Given the description of an element on the screen output the (x, y) to click on. 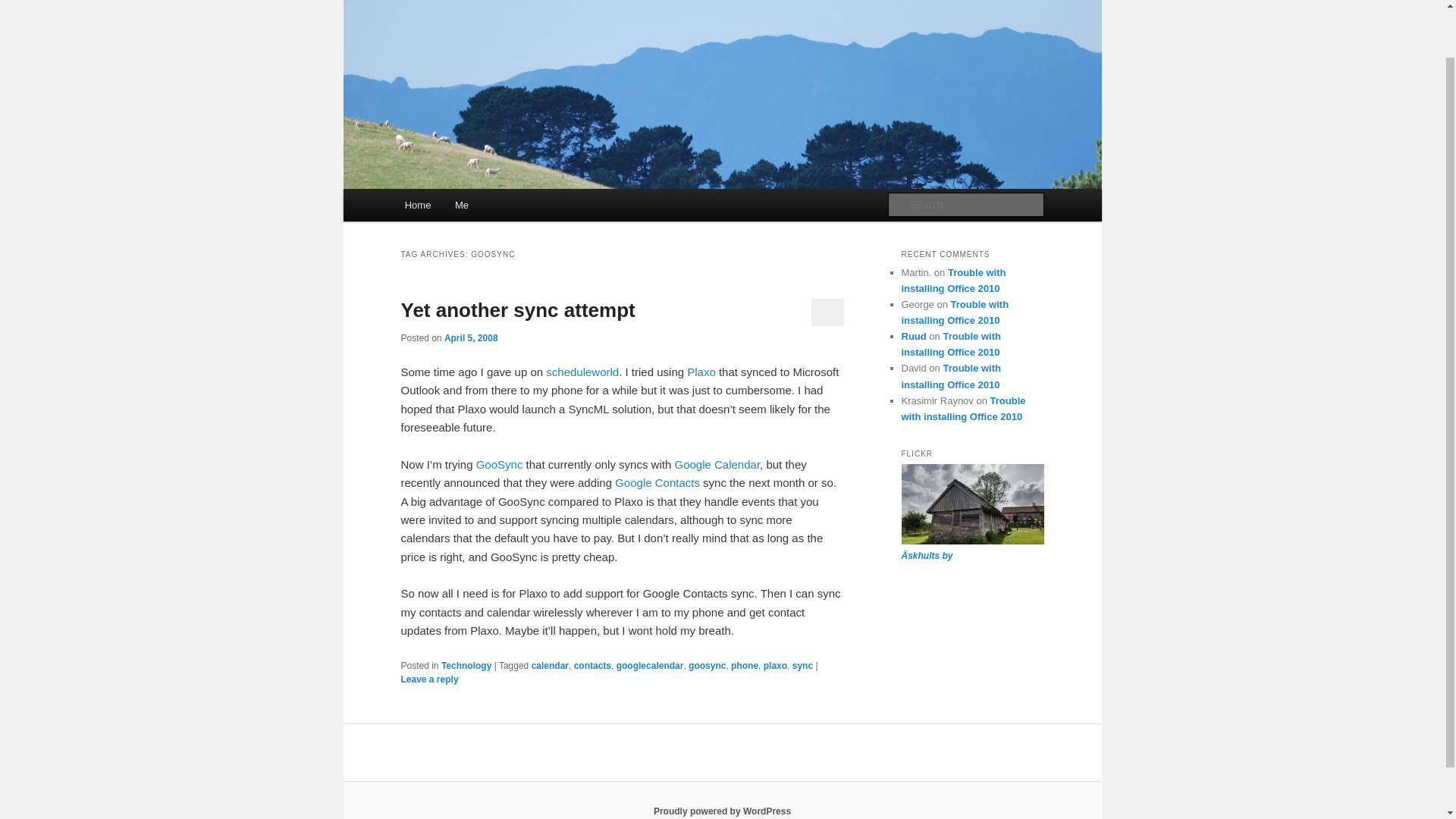
plaxo (774, 665)
April 5, 2008 (470, 337)
GooSync (499, 463)
Leave a reply (429, 679)
Google Calendar (717, 463)
Ruud (913, 336)
Click to see the photo on Flickr (926, 555)
sync (802, 665)
Plaxo (701, 371)
googlecalendar (649, 665)
Google Calendar (717, 463)
20:37 (470, 337)
Trouble with installing Office 2010 (963, 408)
Plaxo (701, 371)
contacts (592, 665)
